Given the description of an element on the screen output the (x, y) to click on. 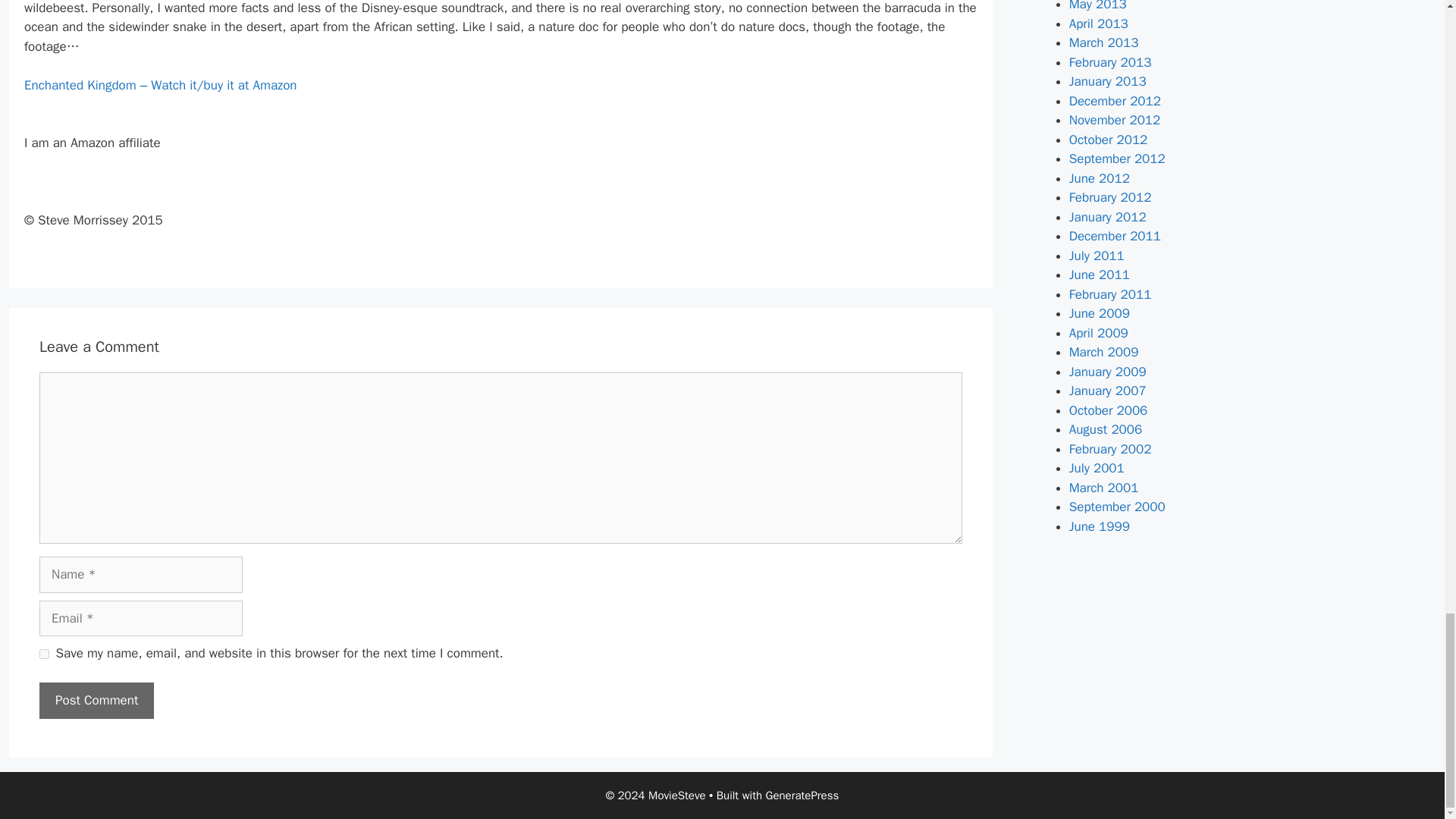
Post Comment (96, 700)
Post Comment (96, 700)
yes (44, 654)
